Given the description of an element on the screen output the (x, y) to click on. 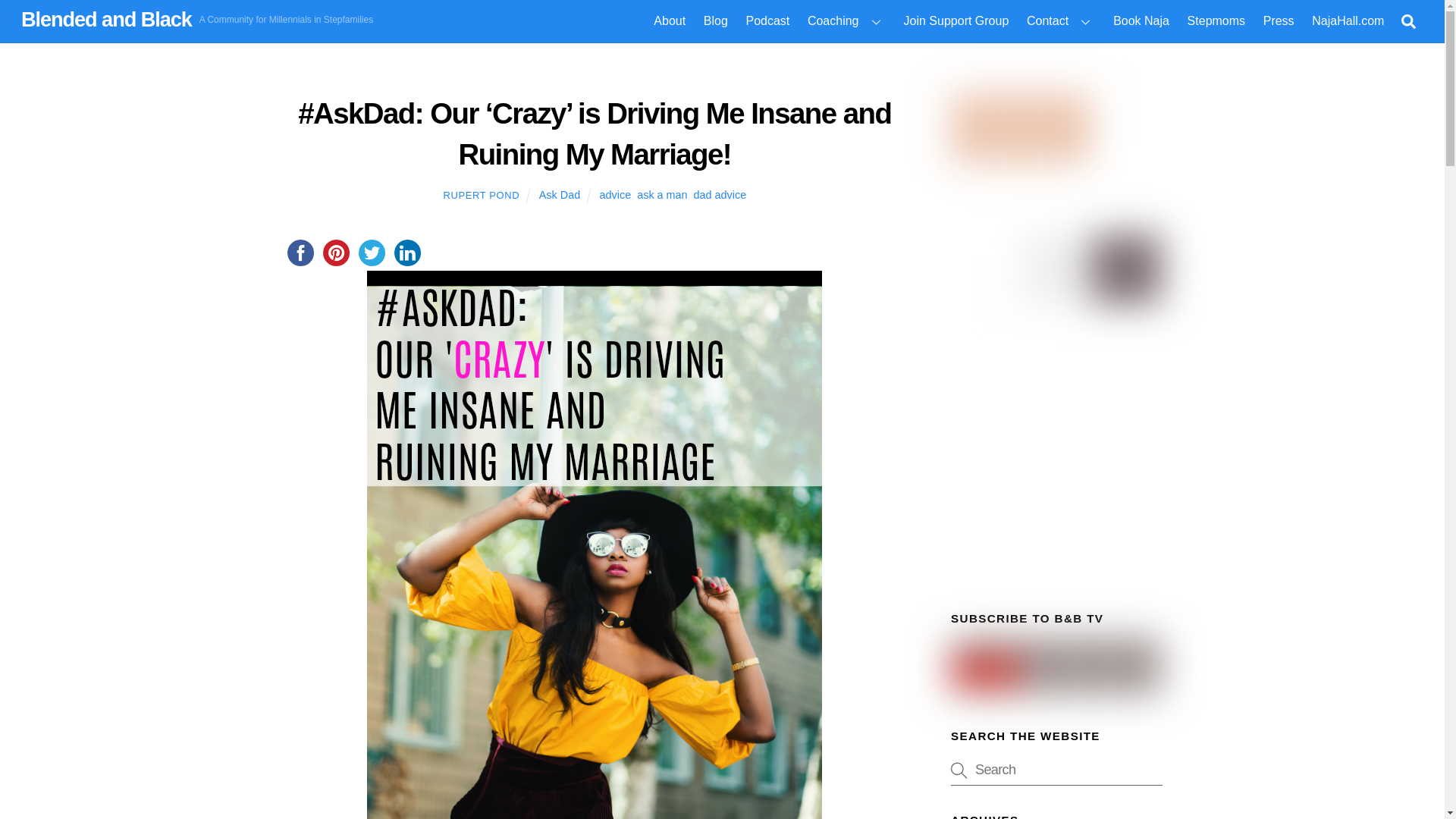
Book Naja (1141, 21)
Contact (1060, 21)
RUPERT POND (480, 194)
Ask Dad (558, 194)
Podcast (767, 21)
ask a man (662, 194)
advice (615, 194)
Coaching (845, 21)
Press (1278, 21)
dad advice (720, 194)
linkedin (407, 253)
twitter (370, 253)
NajaHall.com (1347, 21)
Search (1408, 21)
